Given the description of an element on the screen output the (x, y) to click on. 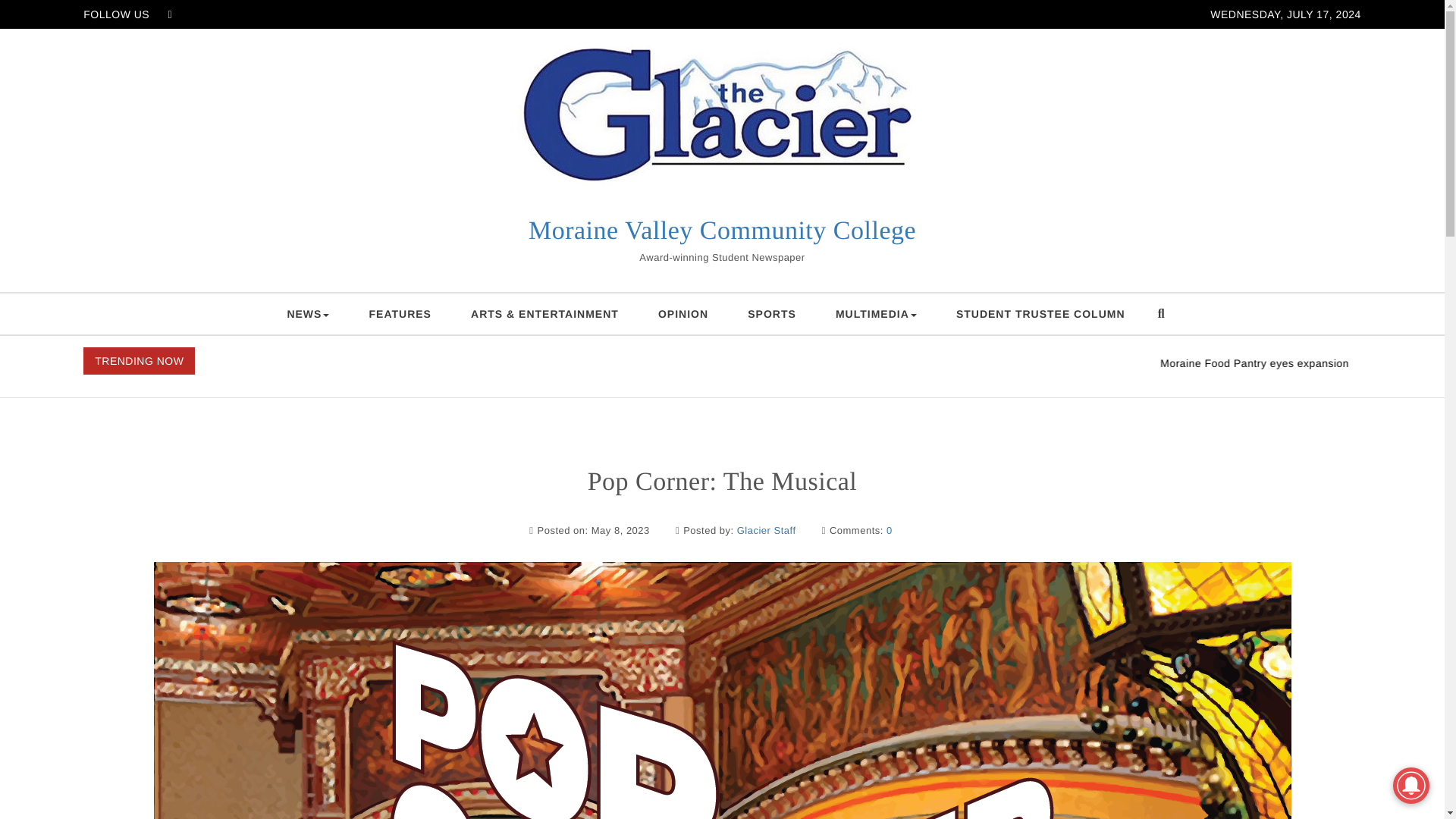
OPINION (683, 313)
STUDENT TRUSTEE COLUMN (1039, 313)
NEWS (307, 313)
Glacier Staff (766, 530)
Pop Corner: The Musical (722, 482)
MULTIMEDIA (875, 313)
FEATURES (399, 313)
Moraine Valley Community College (721, 230)
SPORTS (771, 313)
